Given the description of an element on the screen output the (x, y) to click on. 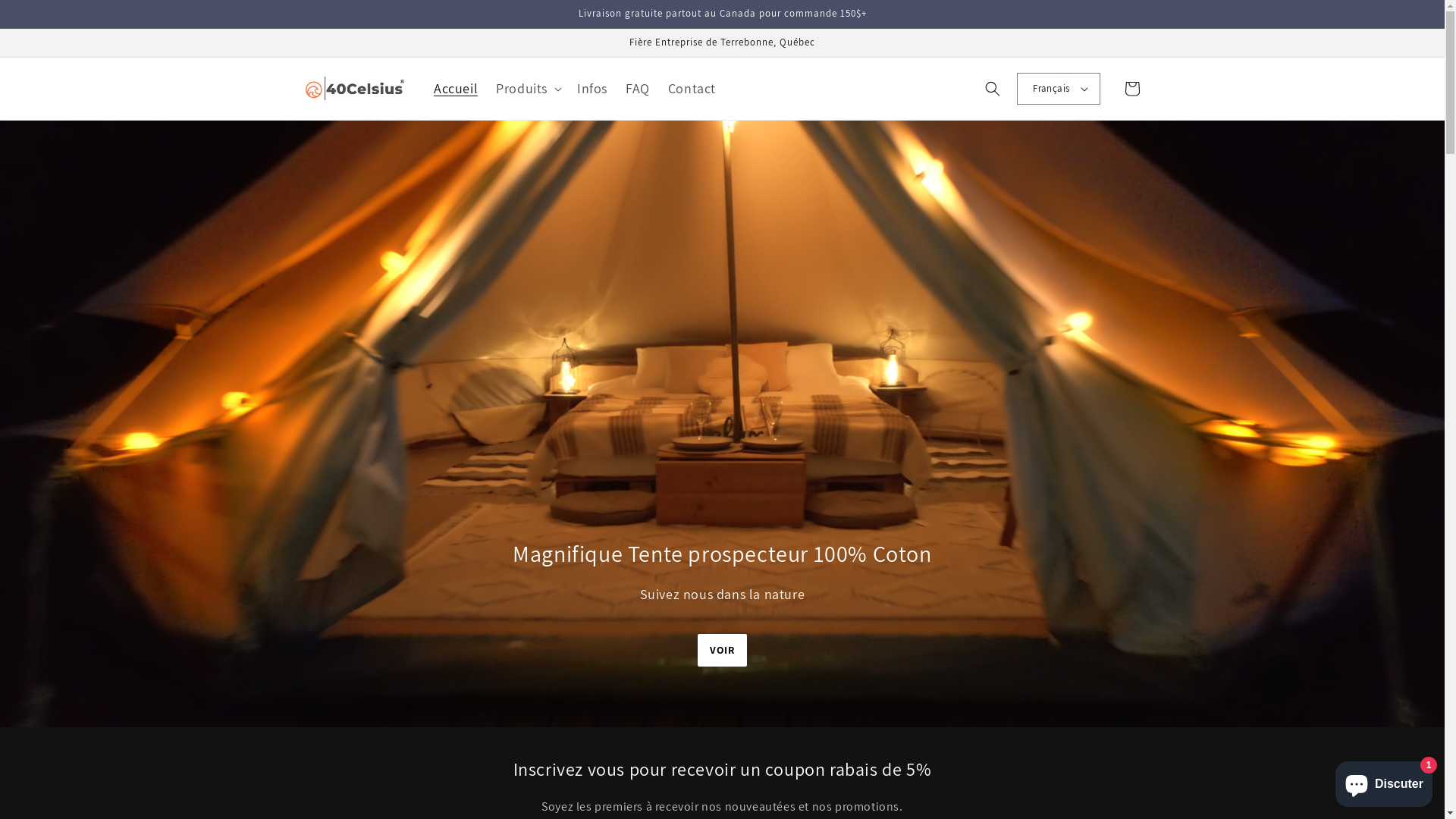
Chat de la boutique en ligne Shopify Element type: hover (1383, 780)
FAQ Element type: text (637, 88)
Infos Element type: text (591, 88)
Accueil Element type: text (455, 88)
VOIR Element type: text (721, 649)
Contact Element type: text (691, 88)
Panier Element type: text (1131, 88)
